Given the description of an element on the screen output the (x, y) to click on. 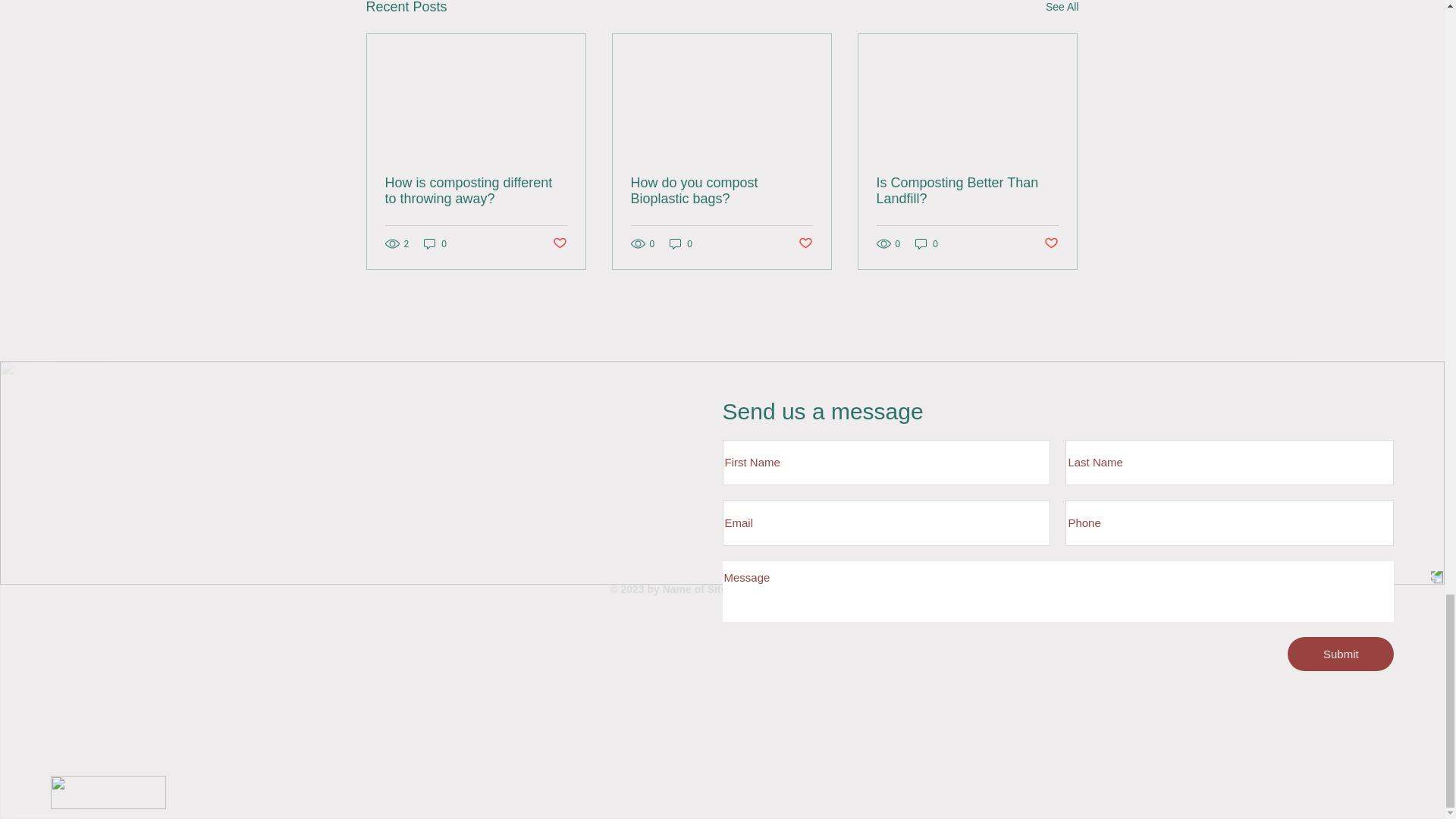
Post not marked as liked (1050, 243)
Editor X. (812, 589)
How is composting different to throwing away? (476, 191)
Post not marked as liked (804, 243)
Post not marked as liked (558, 243)
0 (435, 243)
Submit (1340, 653)
See All (1061, 9)
Is Composting Better Than Landfill? (967, 191)
How do you compost Bioplastic bags? (721, 191)
0 (926, 243)
0 (681, 243)
